Given the description of an element on the screen output the (x, y) to click on. 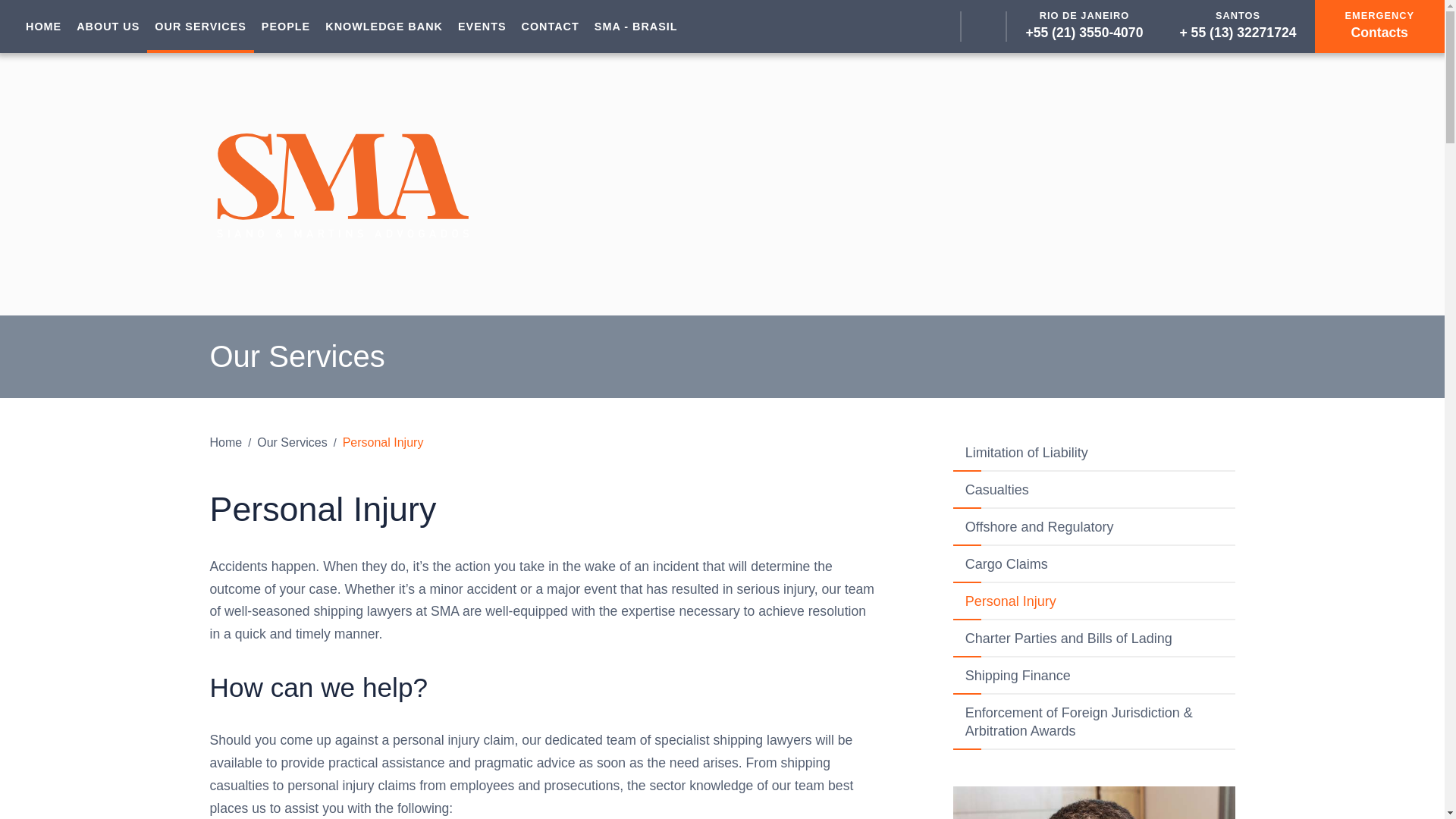
Home (225, 441)
KNOWLEDGE BANK (383, 26)
SMA - BRASIL (635, 26)
PEOPLE (285, 26)
Luiz Roberto Leven Siano (1379, 27)
HOME (1093, 802)
Limitation of Liability (42, 26)
EVENTS (1093, 452)
CONTACT (481, 26)
OUR SERVICES (549, 26)
Our Services (200, 26)
Casualties (291, 441)
Personal Injury (1093, 489)
ABOUT US (382, 441)
